Given the description of an element on the screen output the (x, y) to click on. 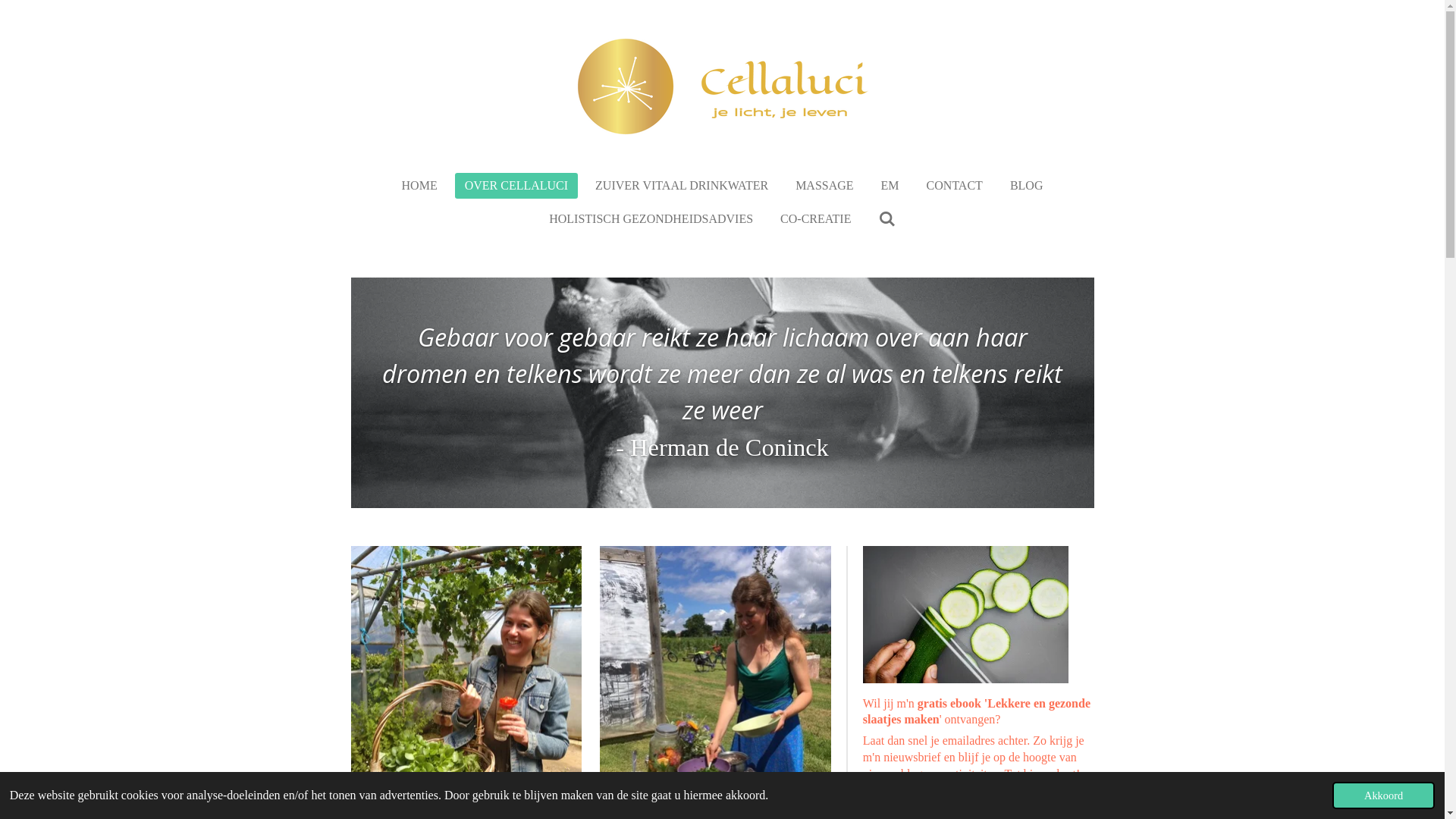
CONTACT Element type: text (954, 185)
ZUIVER VITAAL DRINKWATER Element type: text (681, 185)
Akkoord Element type: text (1383, 795)
CO-CREATIE Element type: text (815, 219)
MASSAGE Element type: text (823, 185)
HOME Element type: text (419, 185)
EM Element type: text (890, 185)
BLOG Element type: text (1026, 185)
Cellaluci.be Element type: hover (721, 85)
Zoeken Element type: hover (886, 219)
HOLISTISCH GEZONDHEIDSADVIES Element type: text (650, 219)
OVER CELLALUCI Element type: text (516, 185)
